Given the description of an element on the screen output the (x, y) to click on. 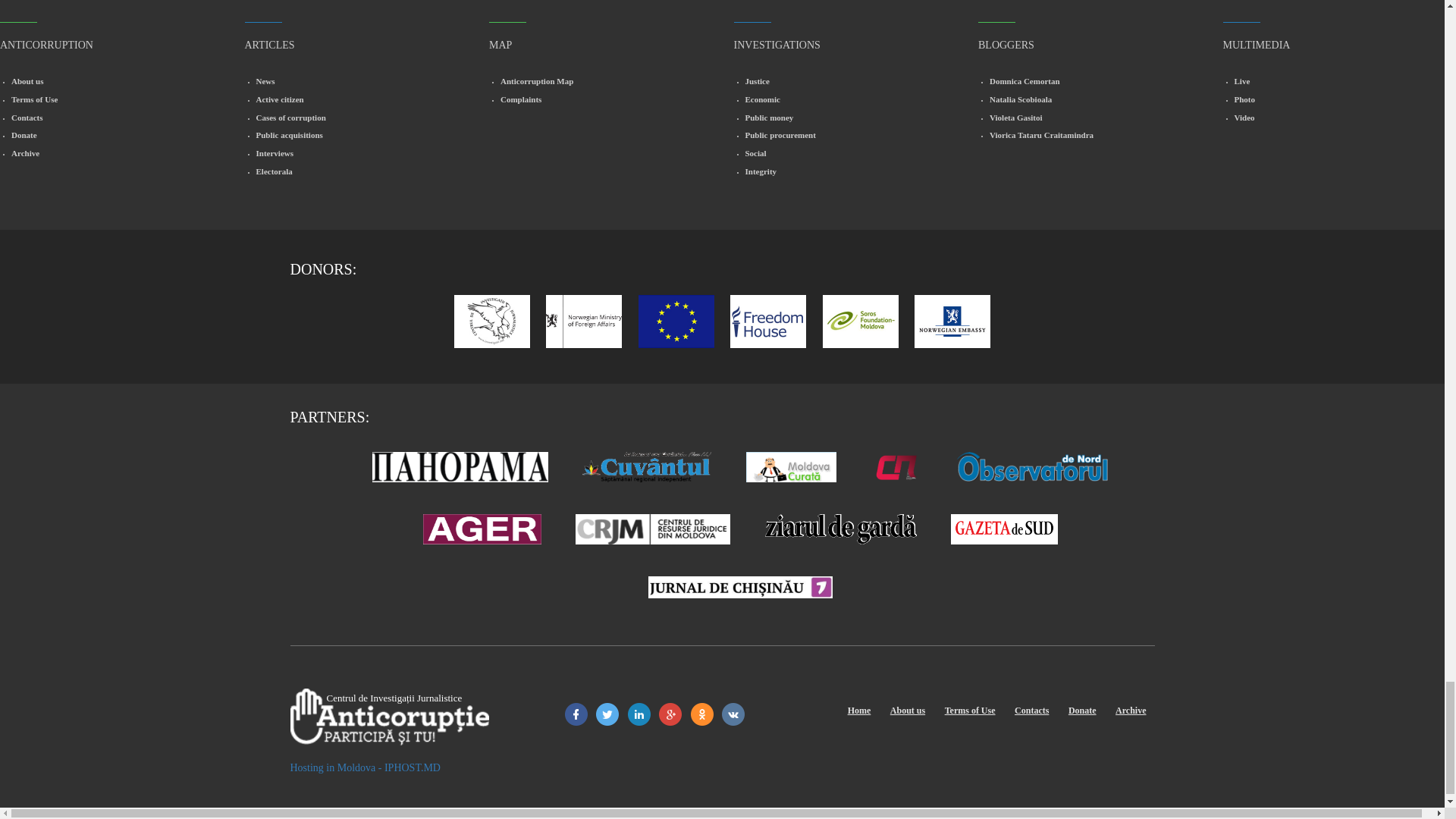
Hosting in Moldova - IPHOST.MD (364, 767)
